Given the description of an element on the screen output the (x, y) to click on. 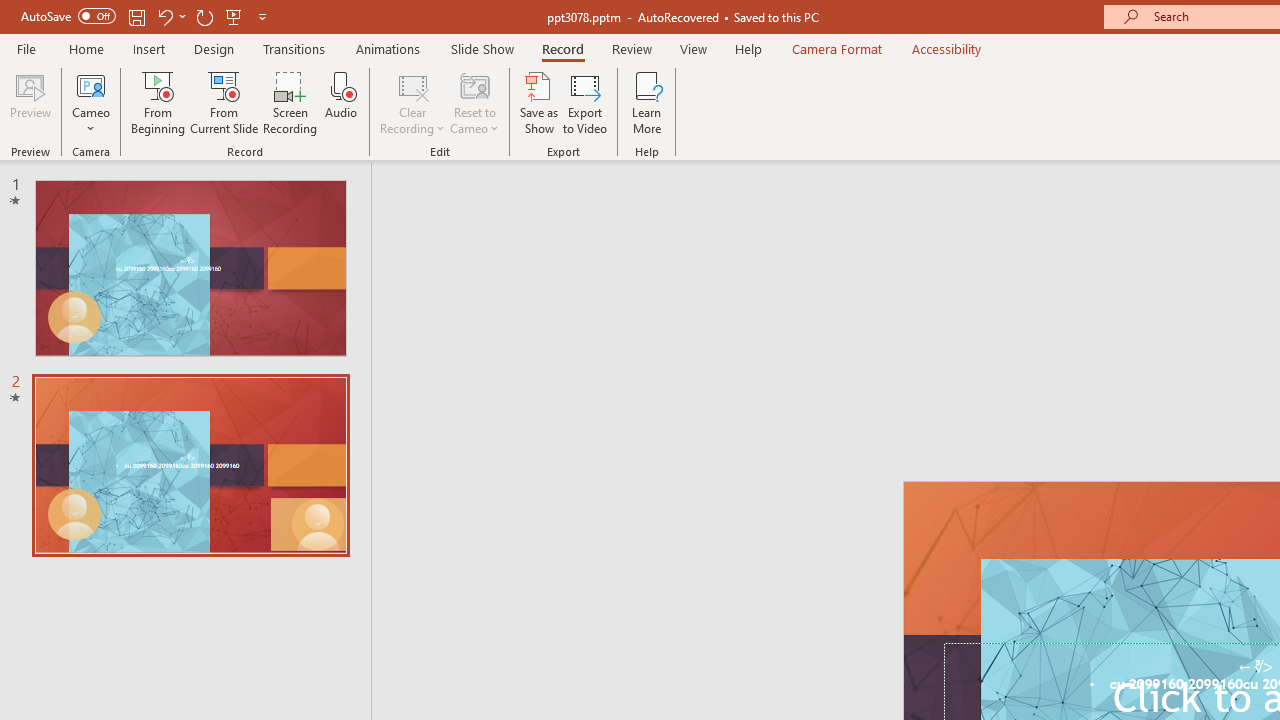
Transitions (294, 48)
Quick Access Toolbar (145, 16)
Accessibility (946, 48)
AutoSave (68, 16)
Home (86, 48)
Save as Show (539, 102)
Cameo (91, 84)
Camera Format (836, 48)
Clear Recording (412, 102)
TextBox 7 (1256, 667)
Save (136, 15)
Help (748, 48)
